Given the description of an element on the screen output the (x, y) to click on. 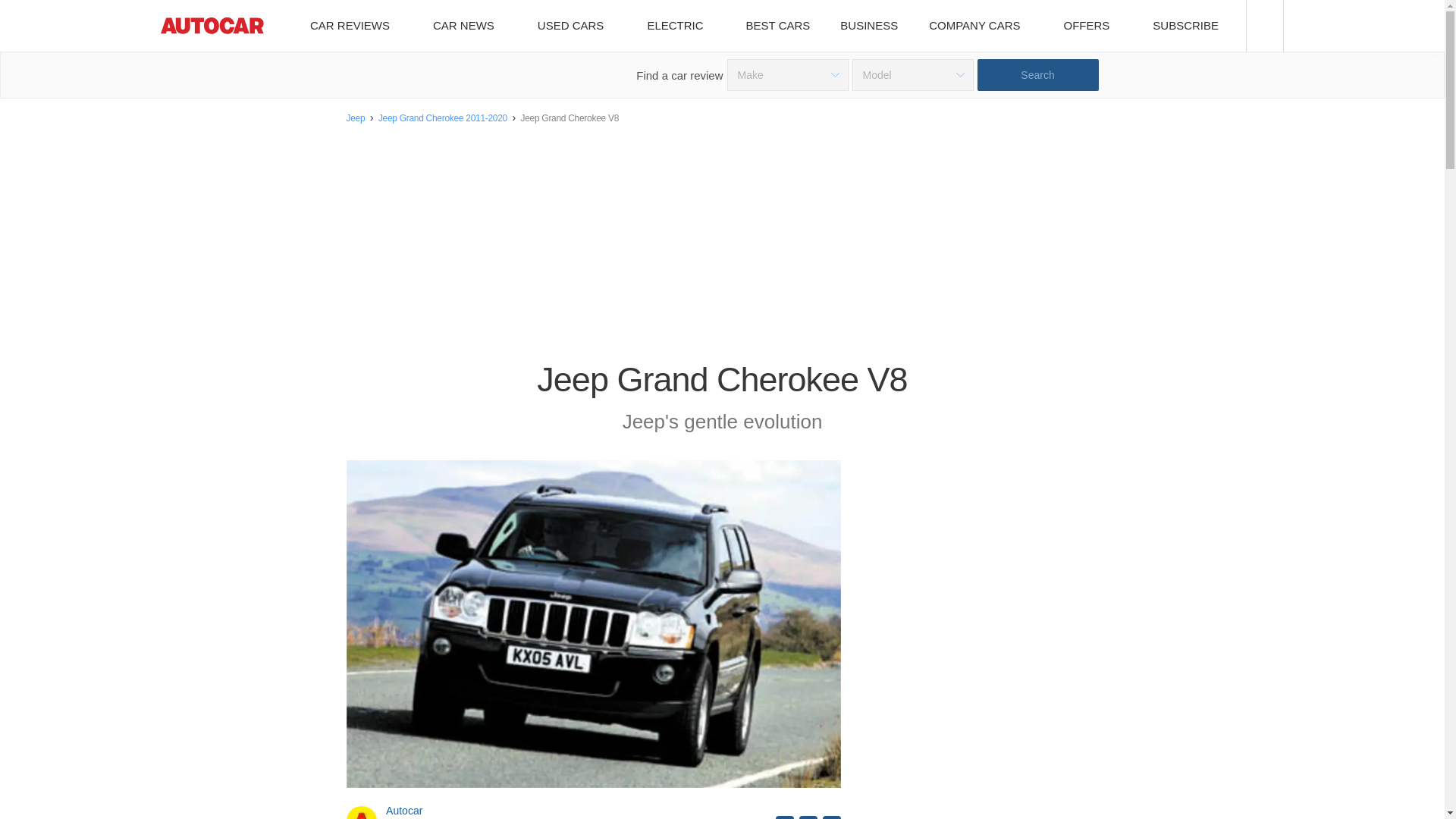
Top 10 cars by segment (777, 26)
OFFERS (1091, 26)
Home (211, 25)
COMPANY CARS (979, 26)
SUBSCRIBE (1191, 26)
Autocar Electric (680, 26)
USED CARS (576, 26)
Autocar Business news, insight and opinion (868, 26)
CAR NEWS (468, 26)
BUSINESS (868, 26)
BEST CARS (777, 26)
Search (1036, 74)
Search (1036, 74)
CAR REVIEWS (355, 26)
ELECTRIC (680, 26)
